Given the description of an element on the screen output the (x, y) to click on. 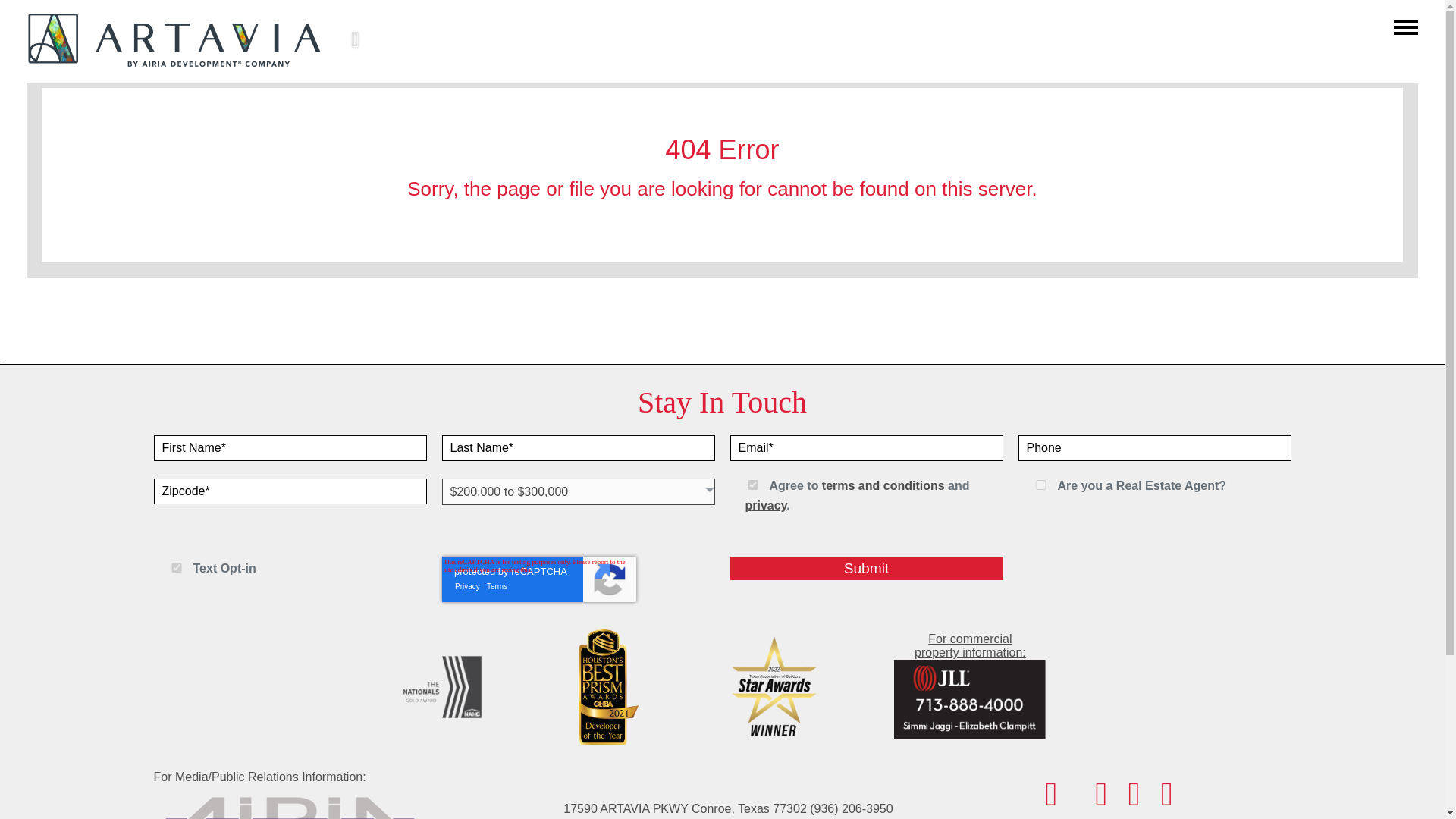
Instagram (1100, 800)
terms and conditions (883, 485)
true (1040, 484)
Twitter (1133, 800)
Submit (866, 567)
reCAPTCHA (537, 578)
privacy (765, 504)
17590 ARTAVIA PKWY Conroe, Texas 77302 (684, 808)
Submit (969, 687)
Text Opt In (866, 567)
true (175, 567)
Facebook (752, 484)
Vimeo (1050, 800)
